Given the description of an element on the screen output the (x, y) to click on. 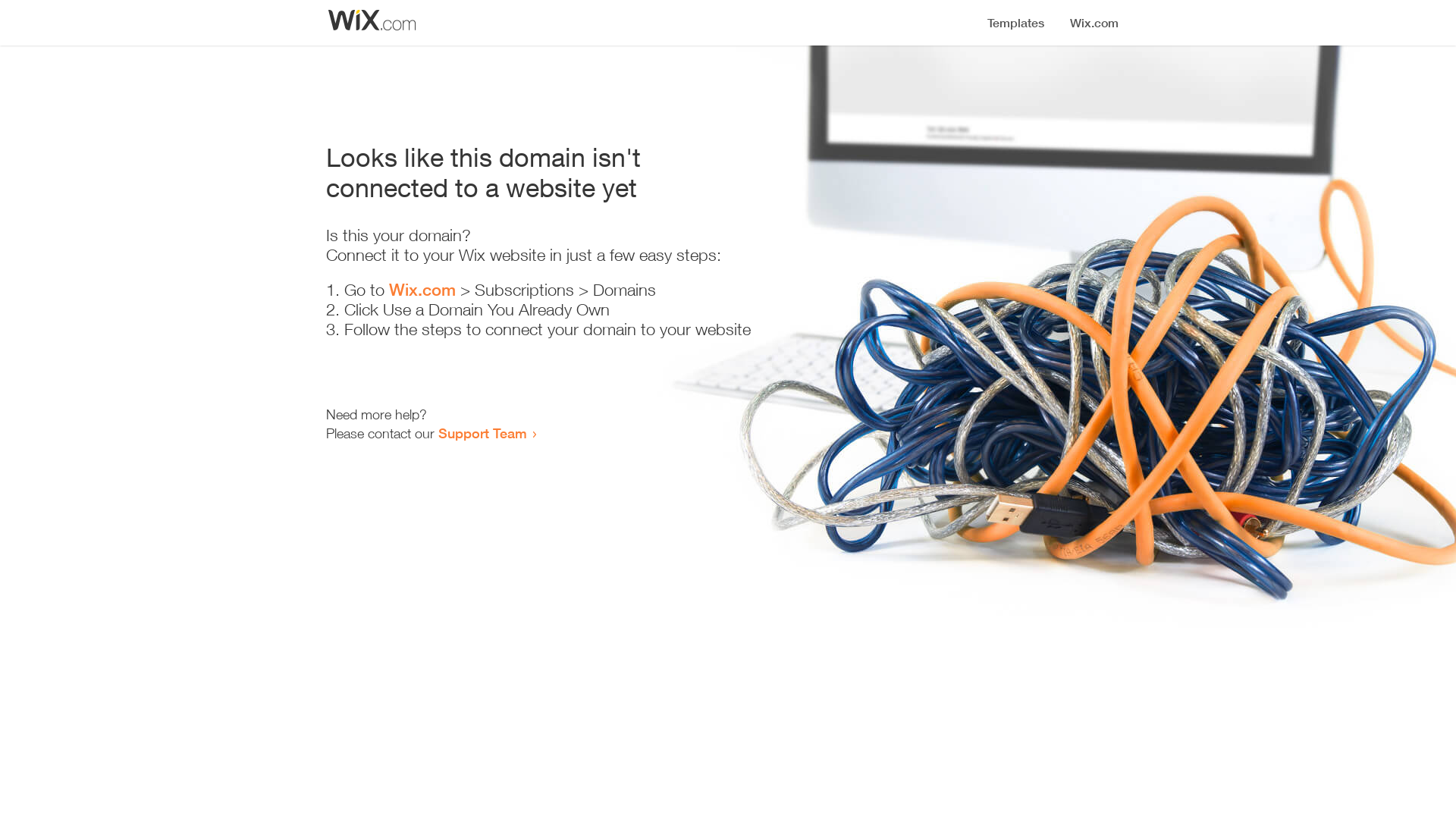
Support Team Element type: text (482, 432)
Wix.com Element type: text (422, 289)
